Given the description of an element on the screen output the (x, y) to click on. 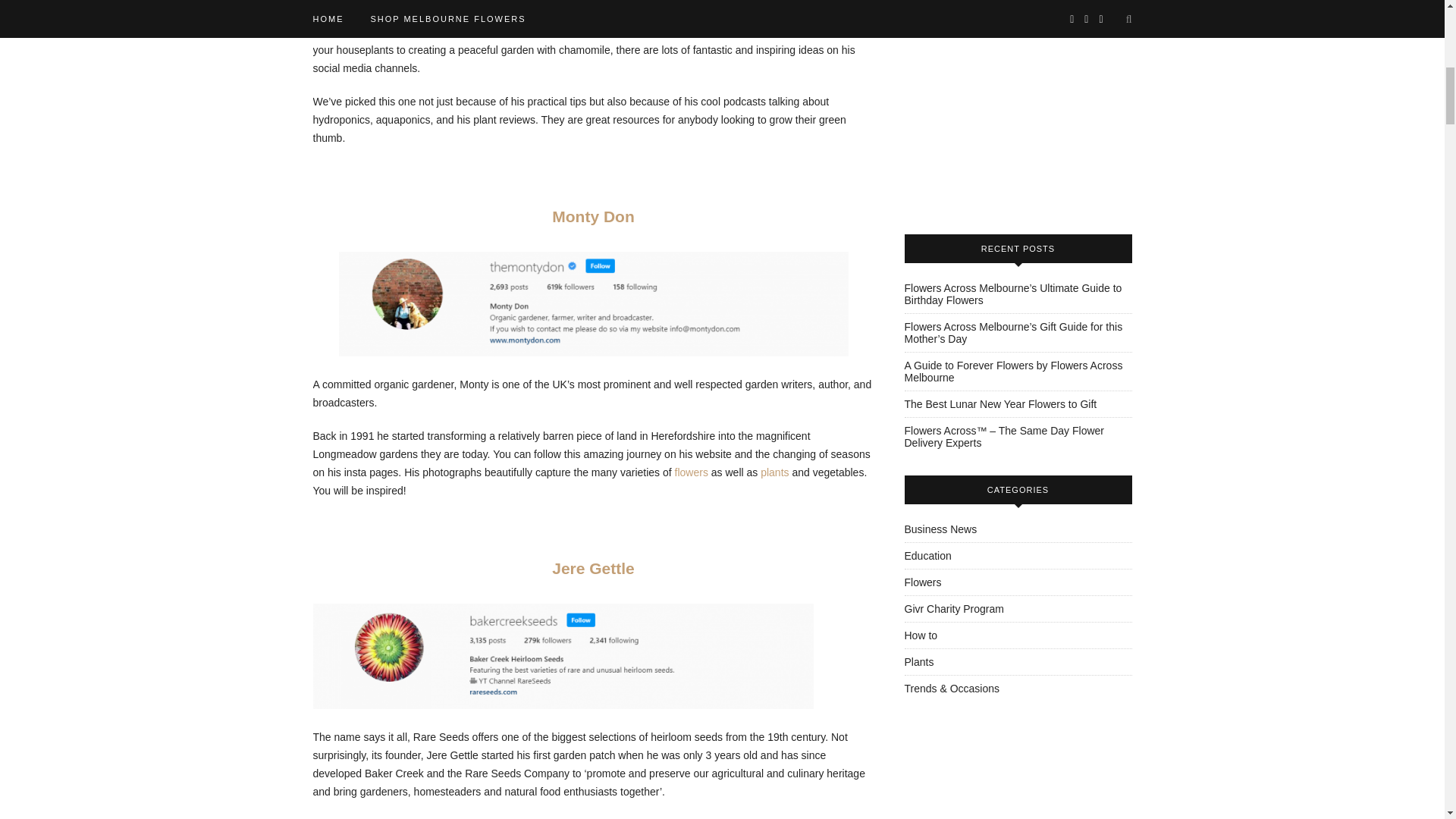
Monty Don (592, 216)
plants (774, 472)
flowers (691, 472)
Jere Gettle (592, 568)
